Given the description of an element on the screen output the (x, y) to click on. 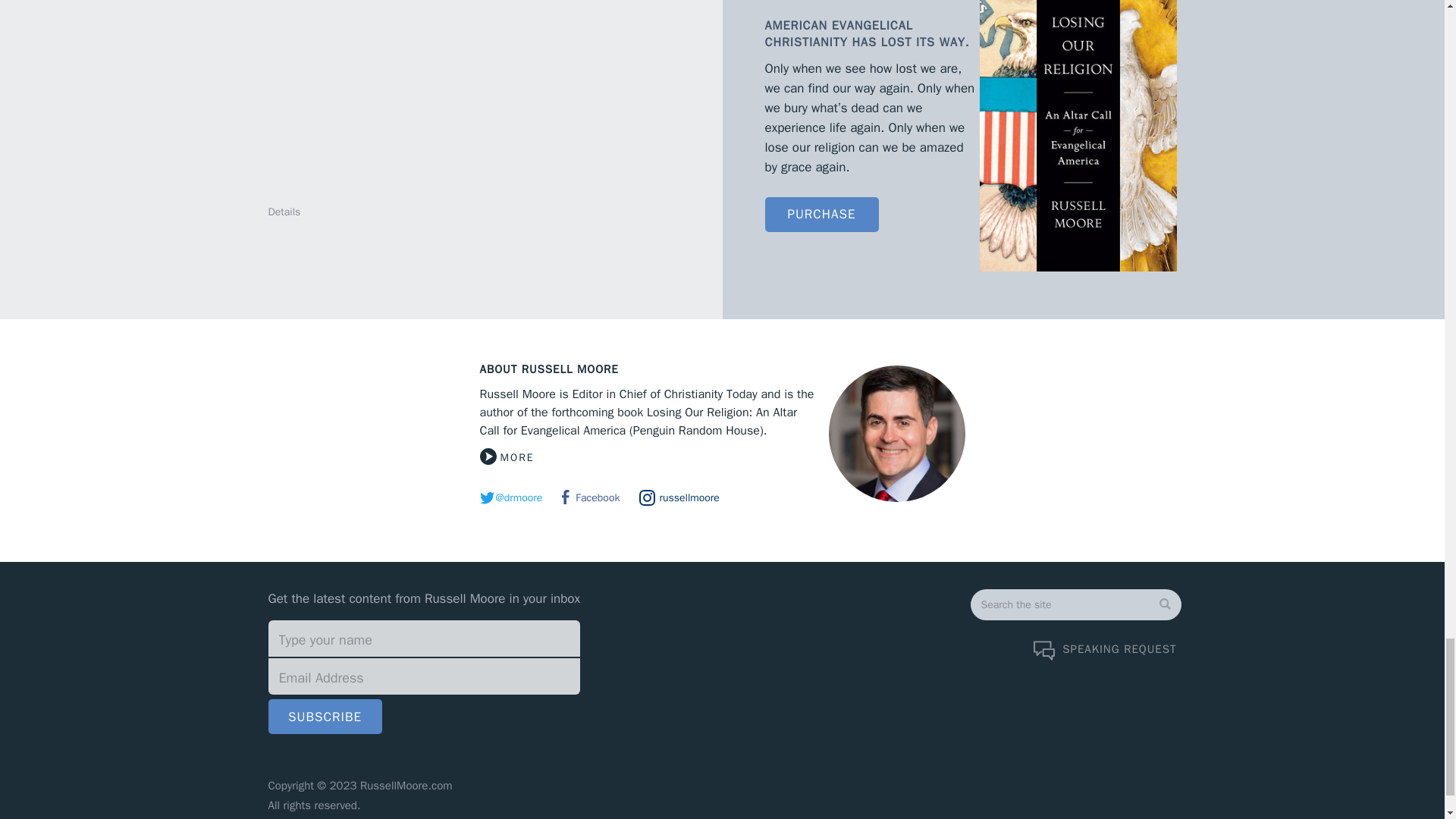
MORE (506, 456)
Facebook (591, 497)
Articles (1033, 817)
russellmoore (679, 497)
SEARCH (1027, 637)
Details (284, 211)
PURCHASE (820, 214)
Podcast (1081, 817)
SPEAKING REQUEST (1104, 649)
SUBSCRIBE (324, 716)
